Given the description of an element on the screen output the (x, y) to click on. 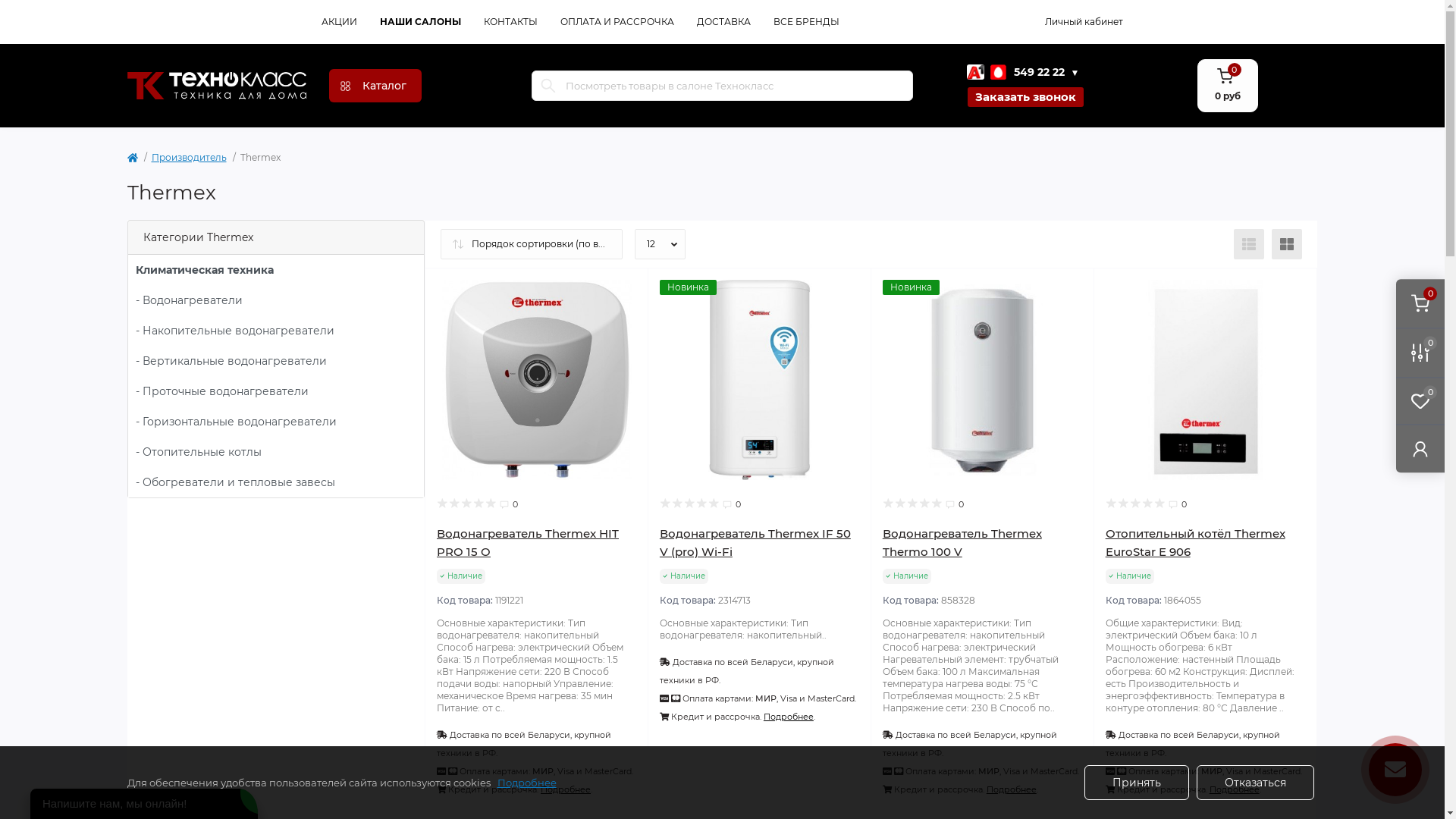
0 Element type: text (1420, 399)
0 Element type: text (1420, 303)
account Element type: hover (1420, 448)
549 22 22 Element type: text (1015, 72)
0 Element type: text (1420, 351)
